Given the description of an element on the screen output the (x, y) to click on. 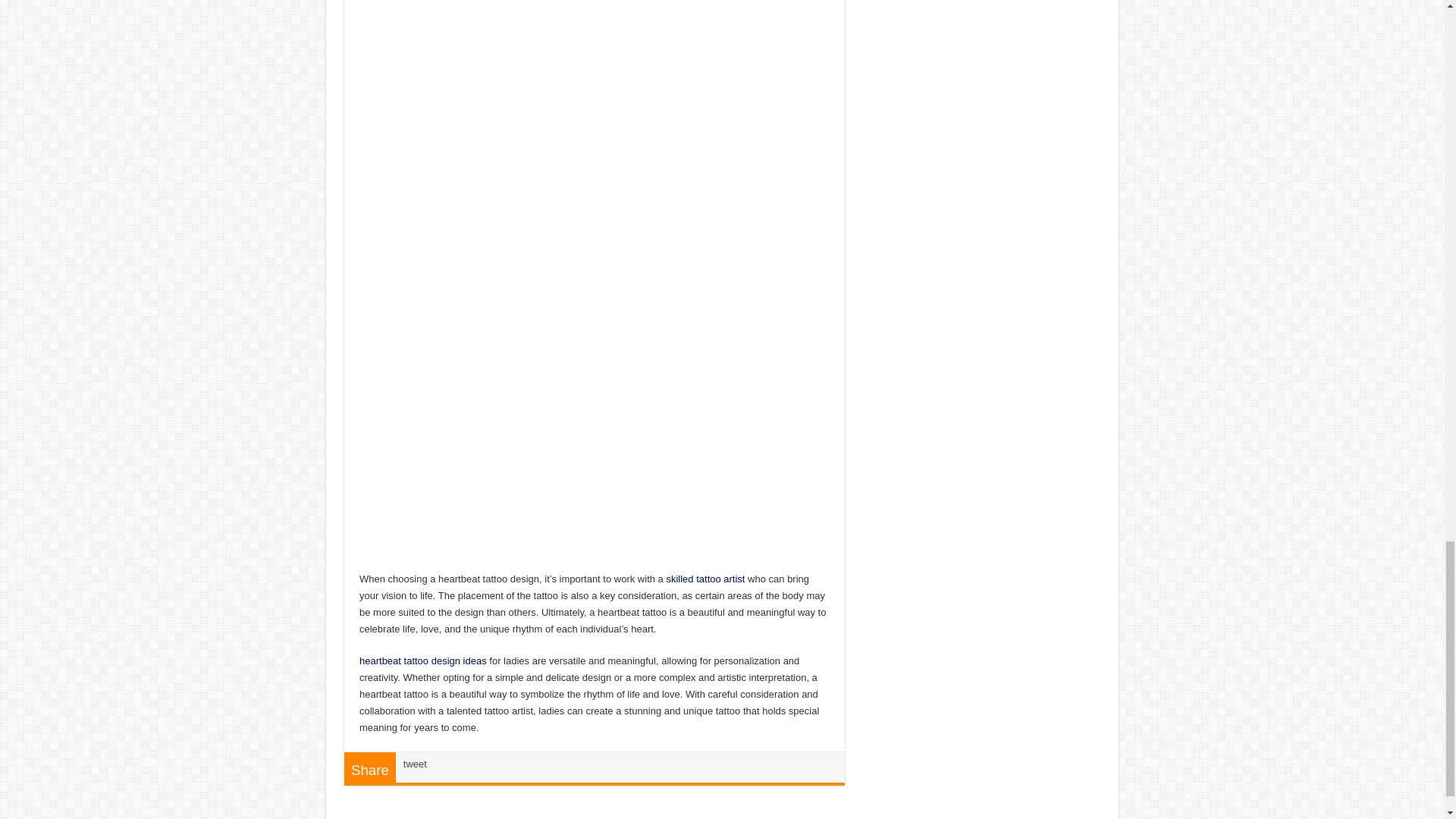
heartbeat tattoo design ideas (422, 660)
tweet (414, 763)
Captivating Heartbeat Tattoo Designs for Women (600, 244)
Heartbeat Tattoo Design Ideas For Ladies (422, 660)
skilled tattoo artist (704, 578)
